Given the description of an element on the screen output the (x, y) to click on. 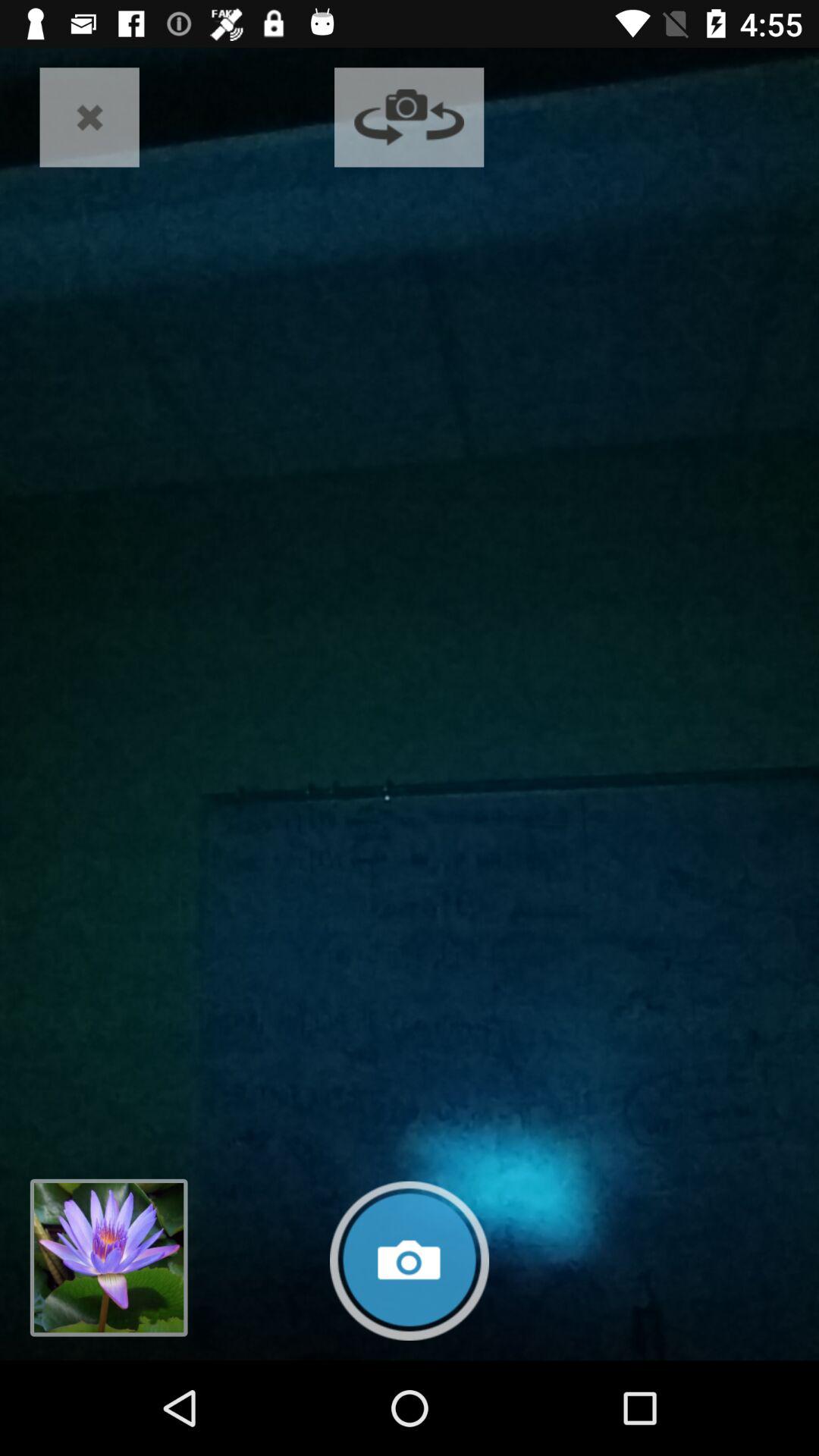
choose icon at the top left corner (89, 117)
